Given the description of an element on the screen output the (x, y) to click on. 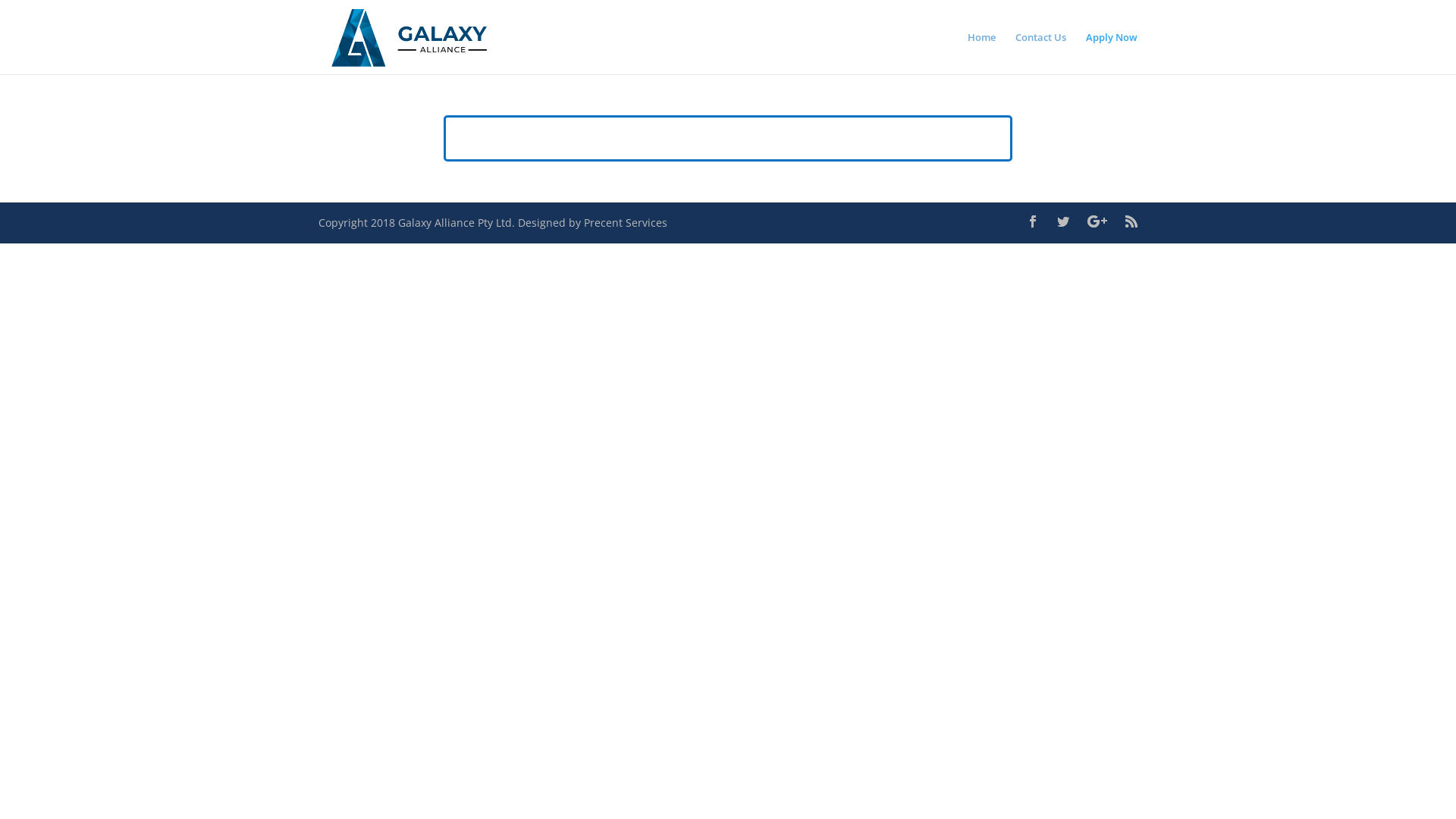
Home Element type: text (981, 52)
Contact Us Element type: text (1040, 52)
Apply Now Element type: text (1111, 52)
